Given the description of an element on the screen output the (x, y) to click on. 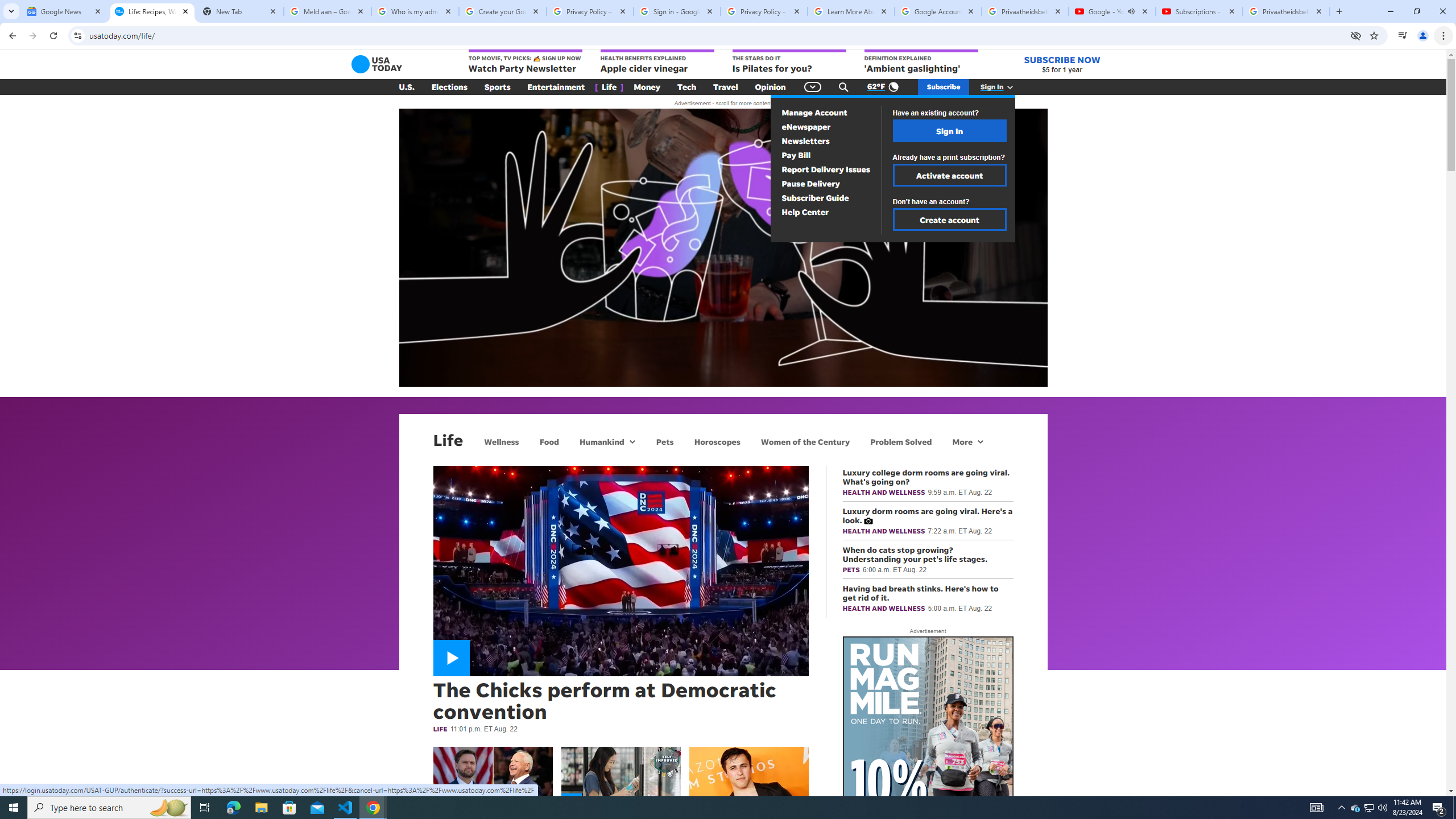
More Humankind navigation (631, 441)
Google Account (938, 11)
Problem Solved (901, 441)
Food (549, 441)
Horoscopes (717, 441)
Tech (686, 87)
Pay Bill (796, 154)
SUBSCRIBE NOW $5 for 1 year (1062, 64)
Elections (449, 87)
